Given the description of an element on the screen output the (x, y) to click on. 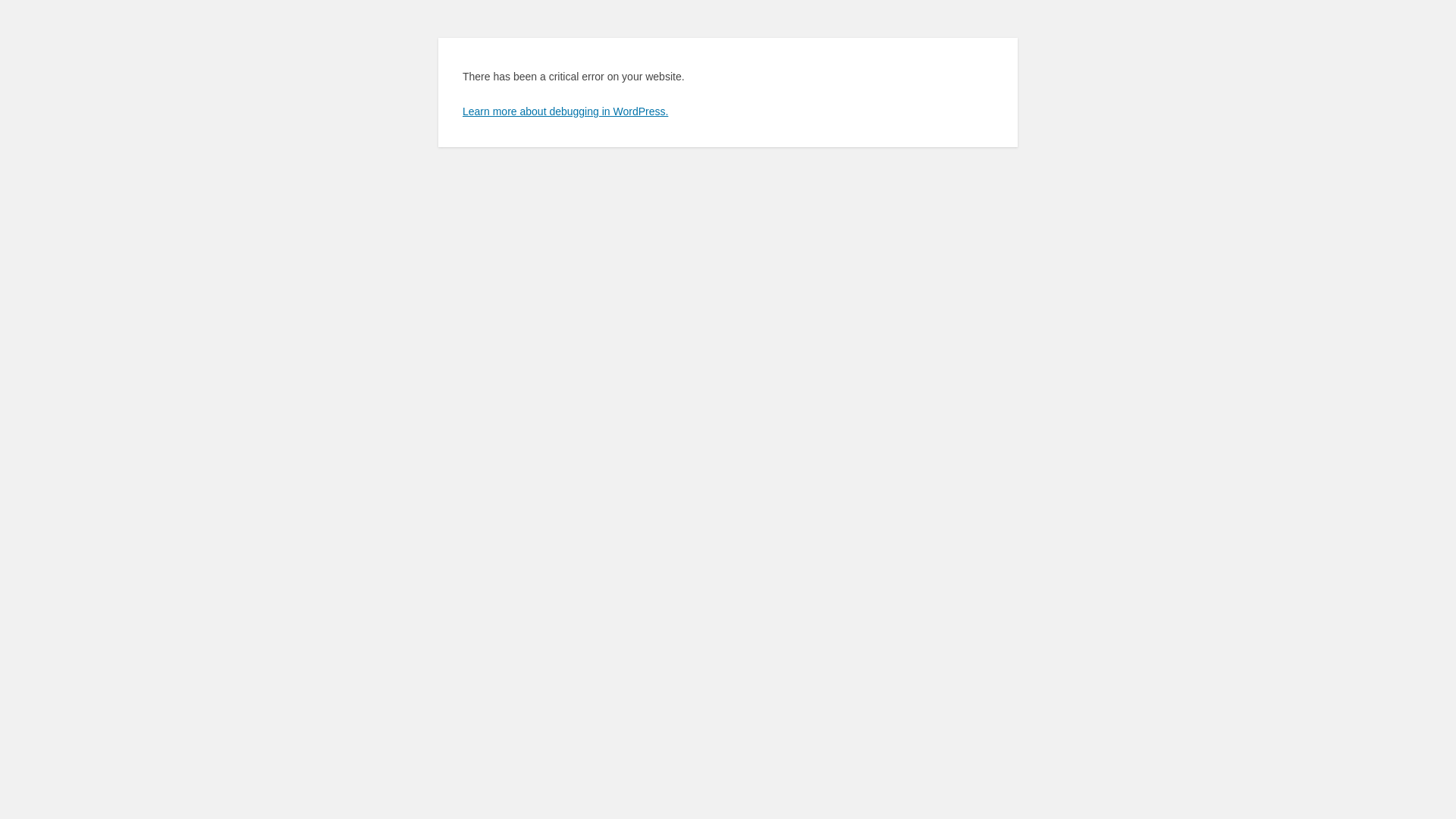
Learn more about debugging in WordPress. Element type: text (565, 111)
